Given the description of an element on the screen output the (x, y) to click on. 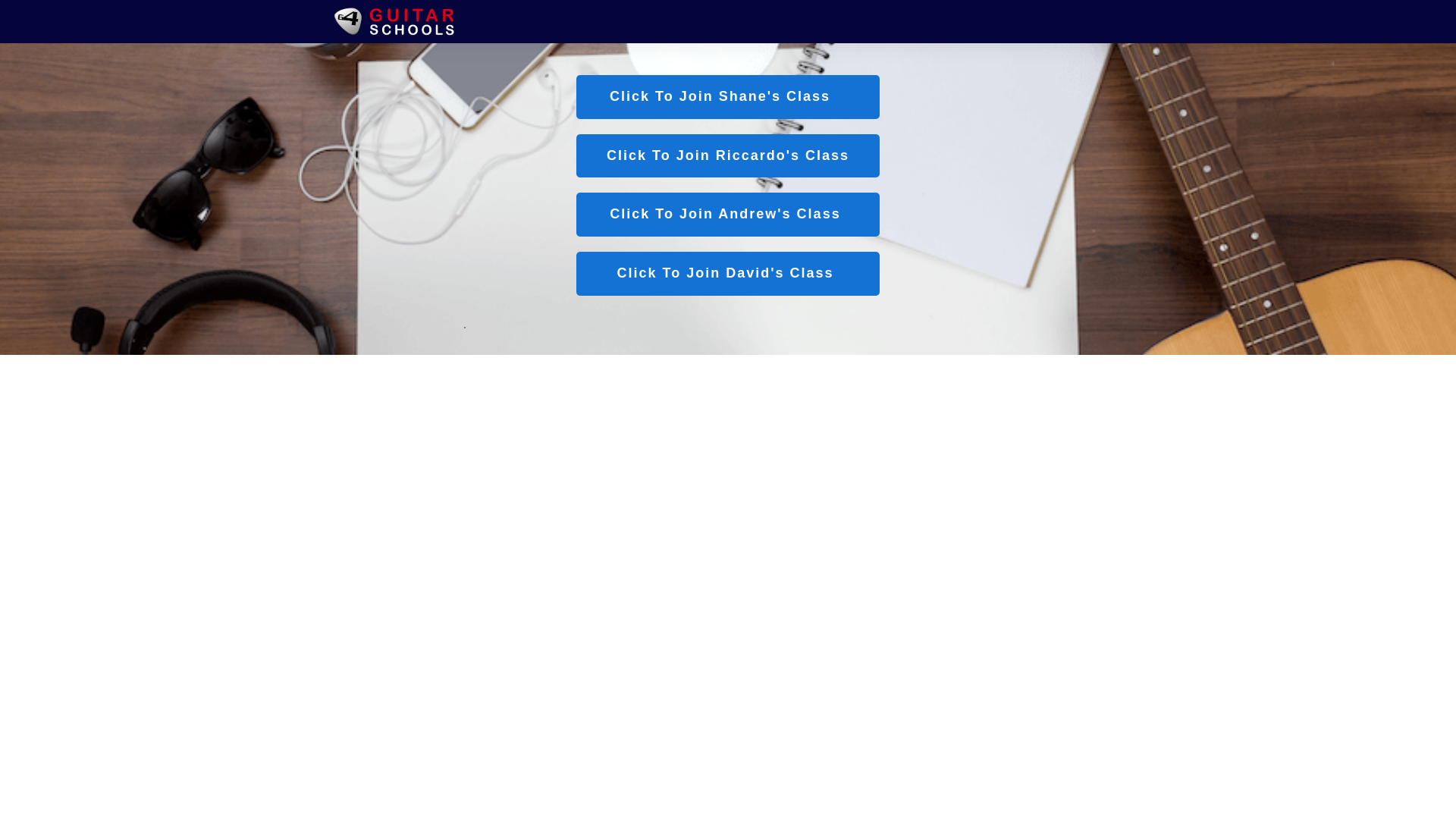
Click To Join Andrew's Class  Element type: text (727, 214)
Click To Join David's Class  Element type: text (727, 273)
Click To Join Shane's Class    Element type: text (727, 97)
Click To Join Riccardo's Class Element type: text (727, 156)
